Given the description of an element on the screen output the (x, y) to click on. 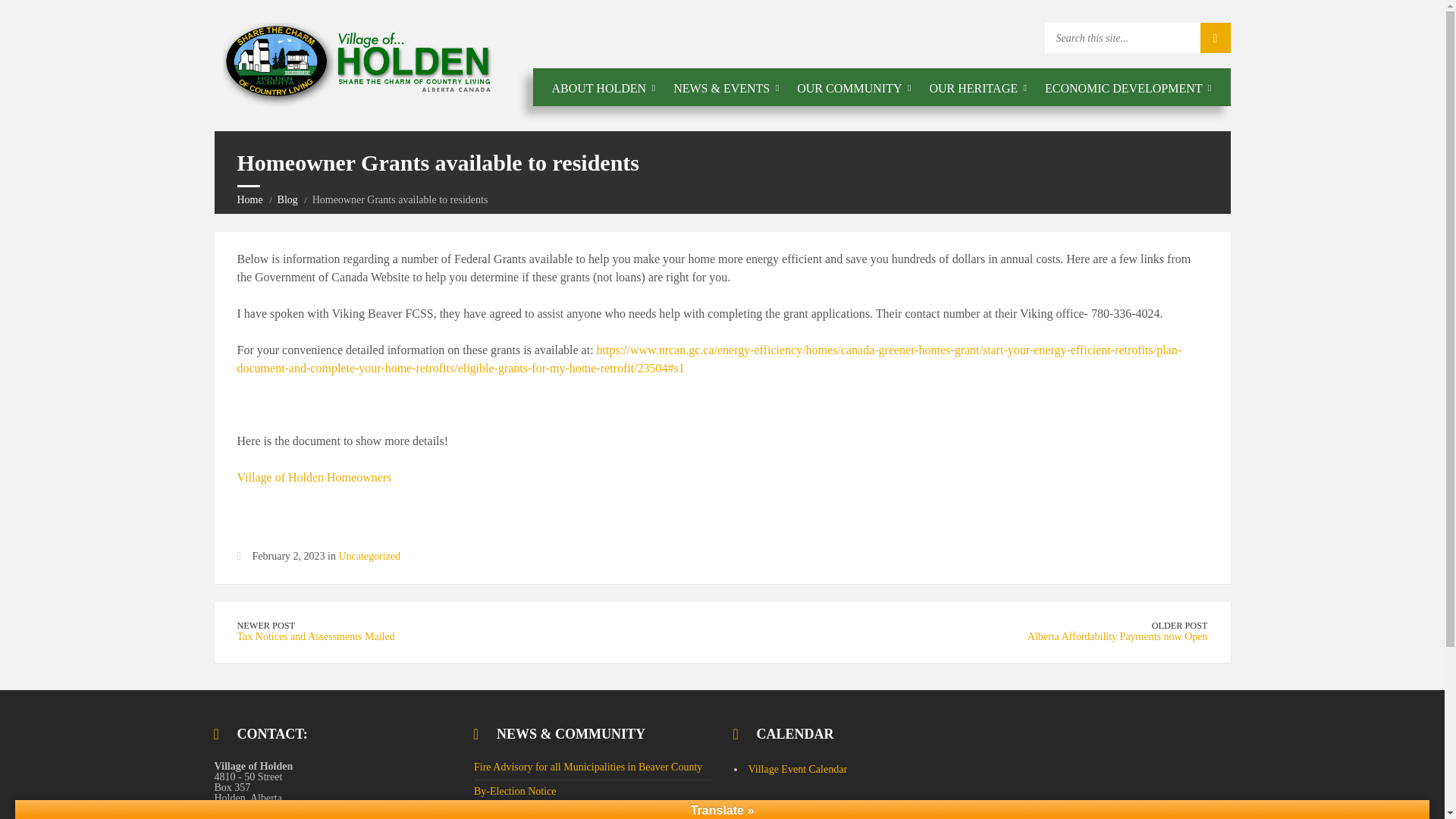
ABOUT HOLDEN (603, 88)
ECONOMIC DEVELOPMENT (1128, 88)
Village Event Calendar (797, 768)
OUR COMMUNITY (853, 88)
OUR HERITAGE (977, 88)
